Given the description of an element on the screen output the (x, y) to click on. 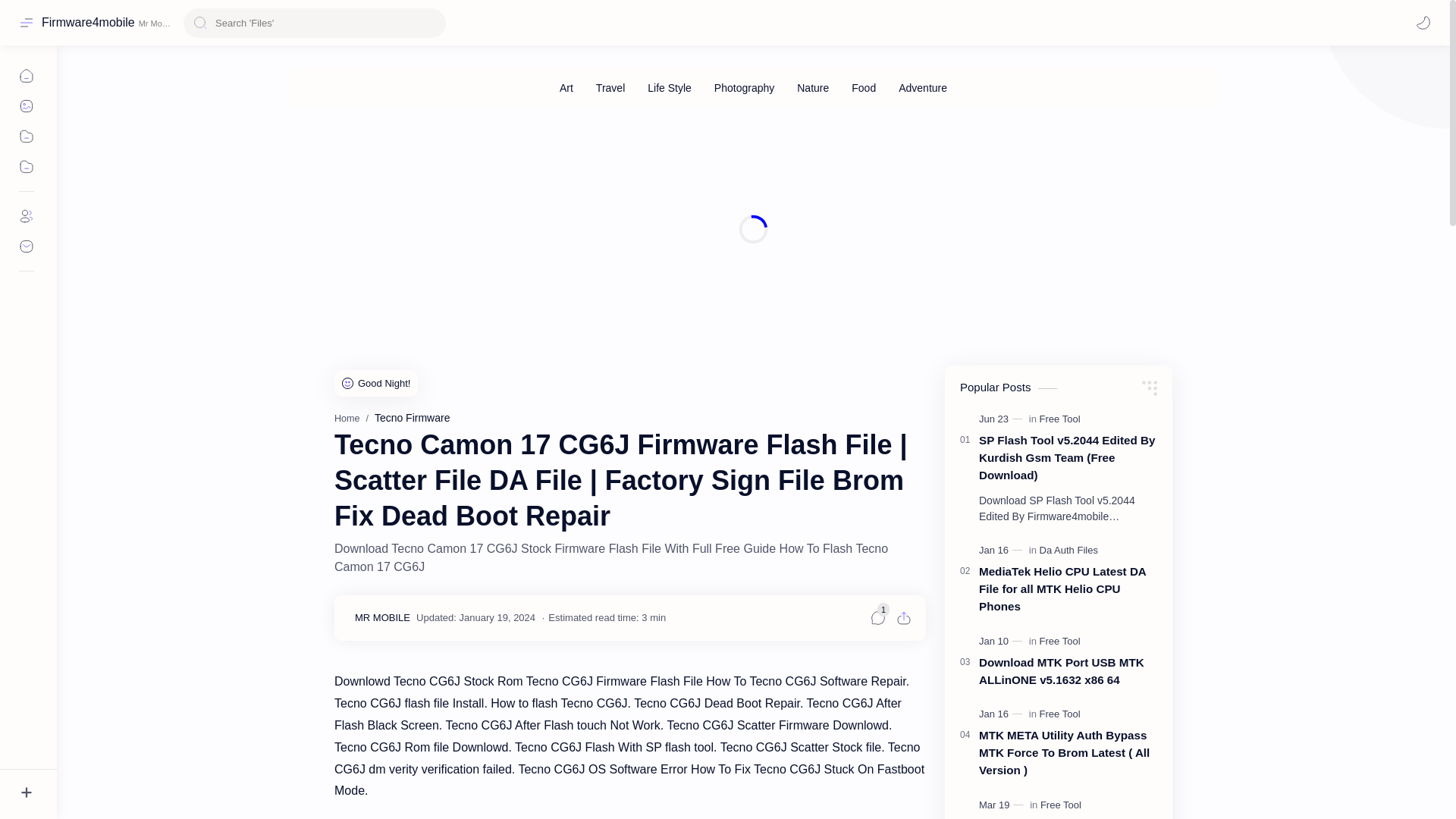
Tecno Firmware (411, 417)
Published: January 16, 2022 (1002, 550)
Published: June 23, 2022 (1002, 418)
Last updated: January 19, 2024 (475, 617)
Published: January 10, 2022 (1002, 641)
Published: January 16, 2022 (1002, 714)
Firmware4mobile (88, 22)
Published: March 19, 2022 (1002, 805)
Home (346, 418)
